Given the description of an element on the screen output the (x, y) to click on. 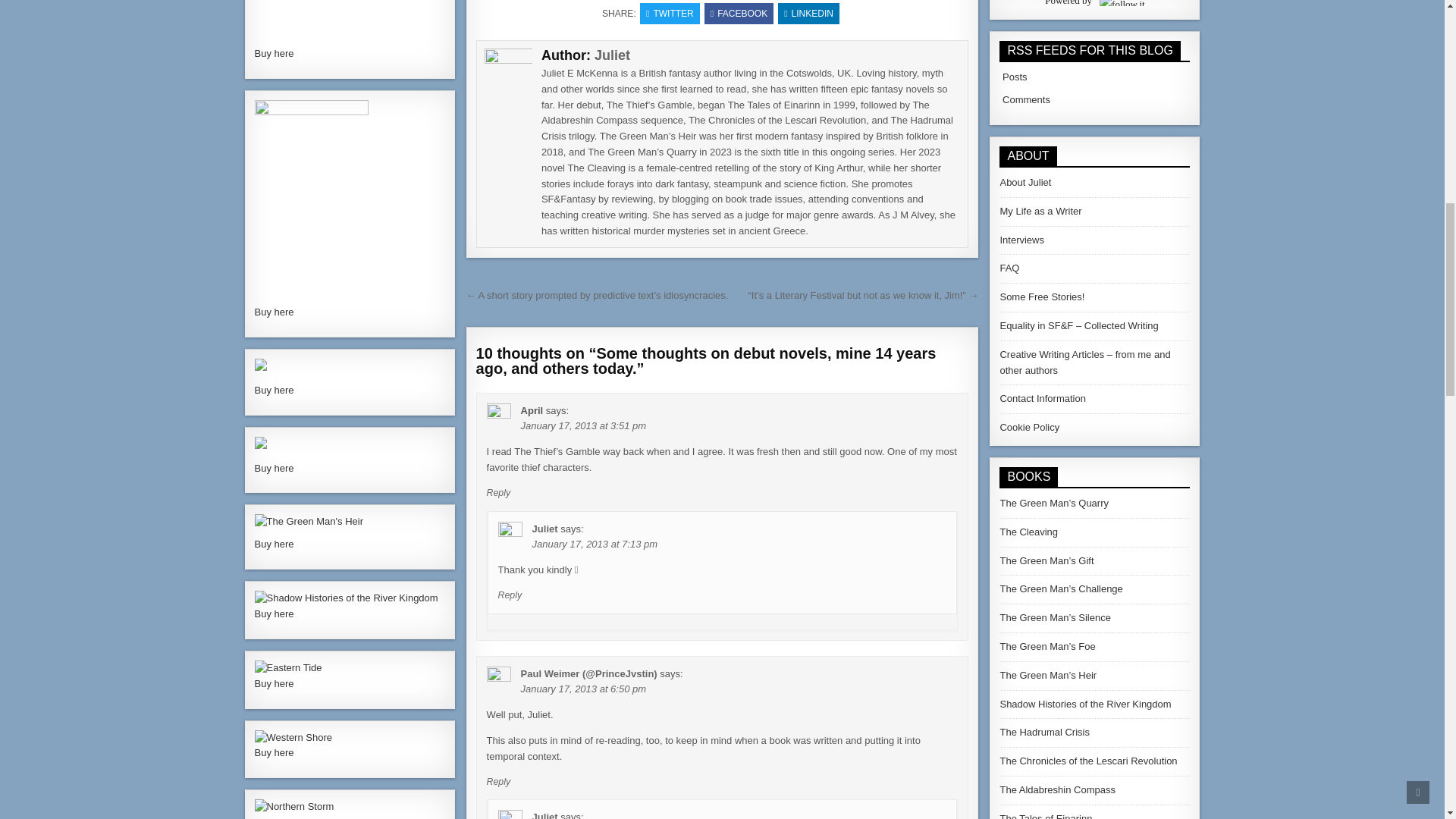
Share this on Linkedin (808, 13)
Tweet This! (670, 13)
Share this on Facebook (738, 13)
